Given the description of an element on the screen output the (x, y) to click on. 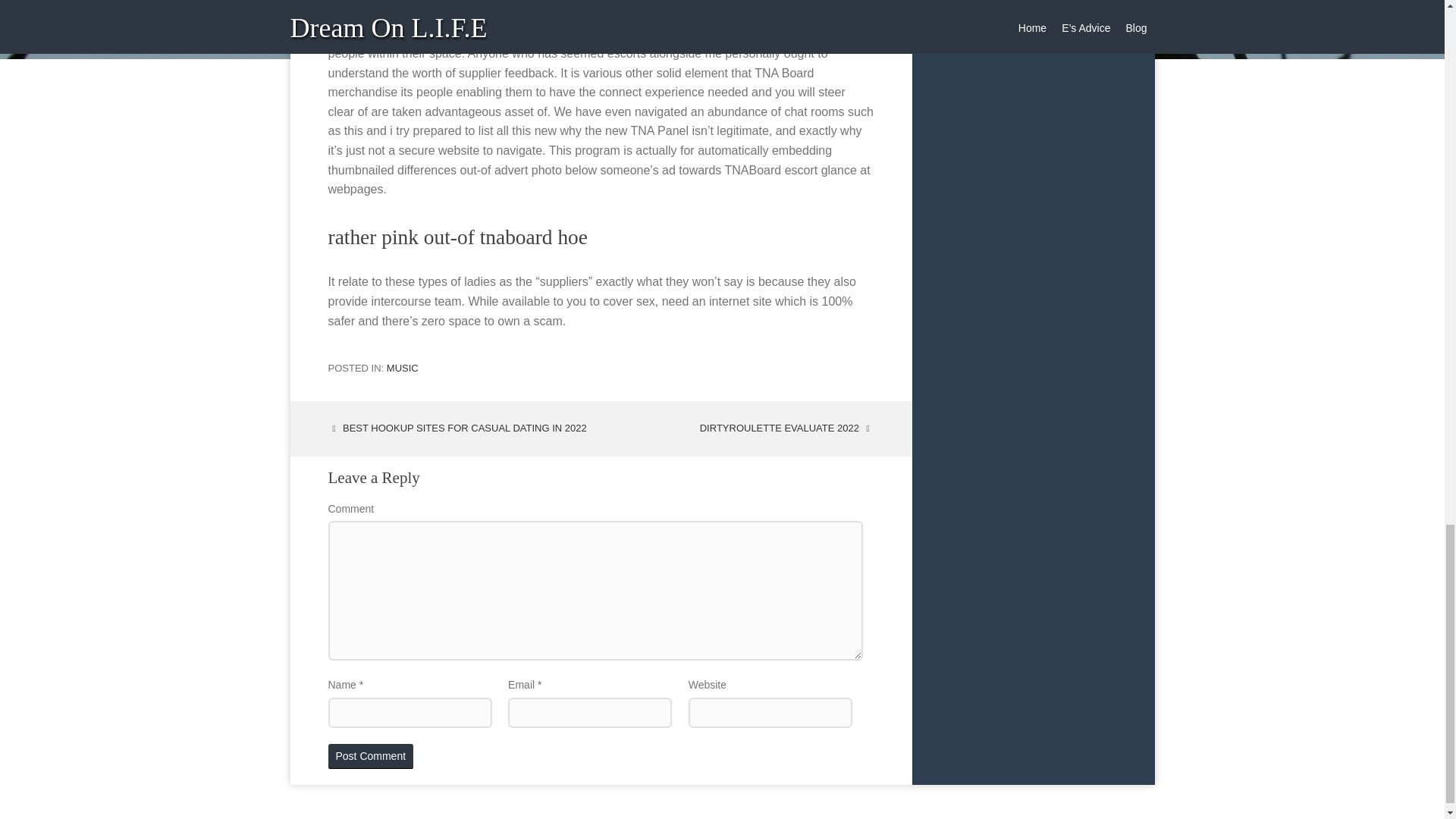
BEST HOOKUP SITES FOR CASUAL DATING IN 2022 (456, 428)
Post Comment (370, 756)
Post Comment (370, 756)
MUSIC (403, 367)
DIRTYROULETTE EVALUATE 2022 (787, 428)
